Given the description of an element on the screen output the (x, y) to click on. 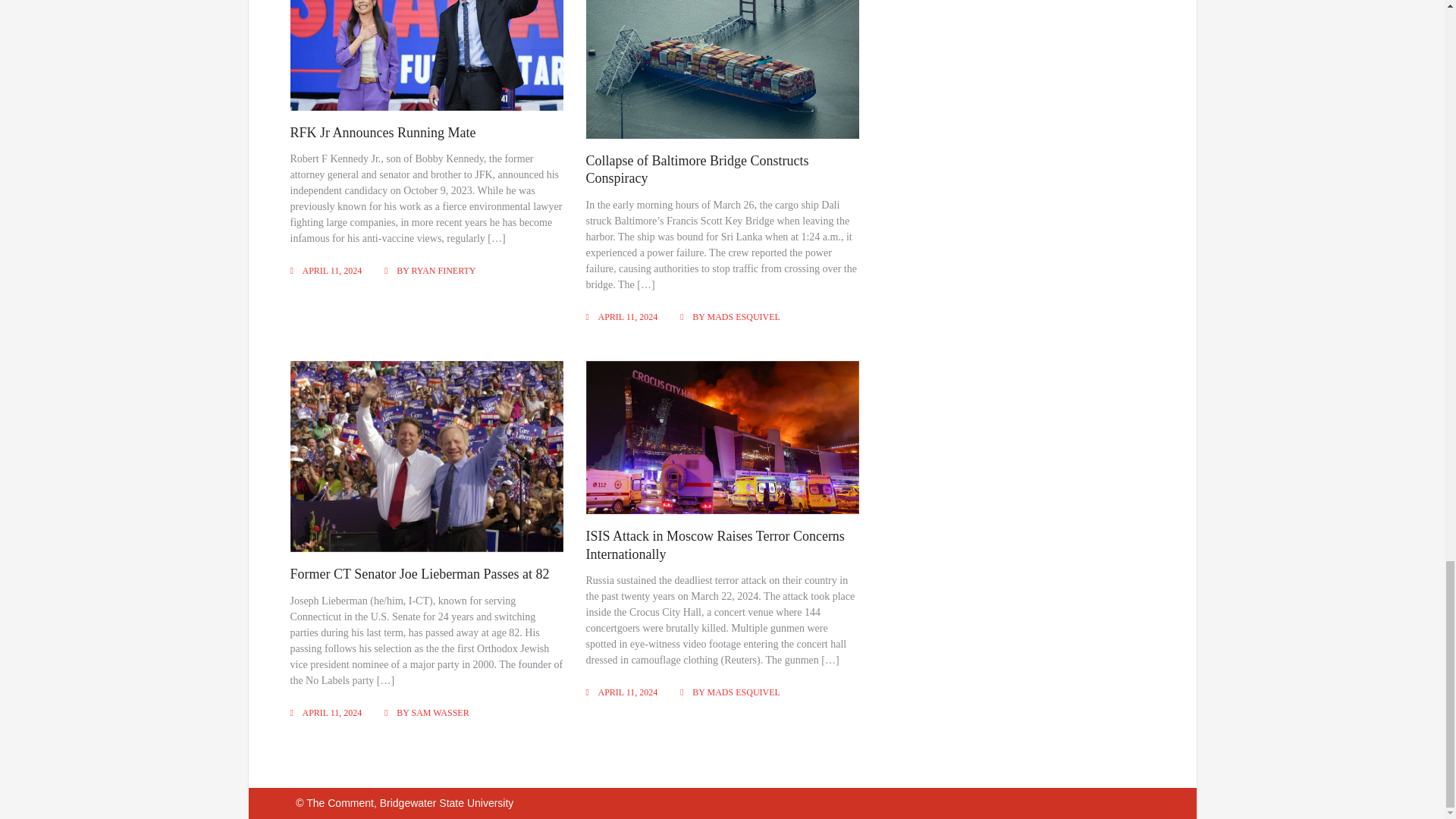
RFK Jr Announces Running Mate (382, 132)
Collapse of Baltimore Bridge Constructs Conspiracy (697, 169)
APRIL 11, 2024 (628, 317)
RYAN FINERTY (444, 270)
APRIL 11, 2024 (331, 270)
